Given the description of an element on the screen output the (x, y) to click on. 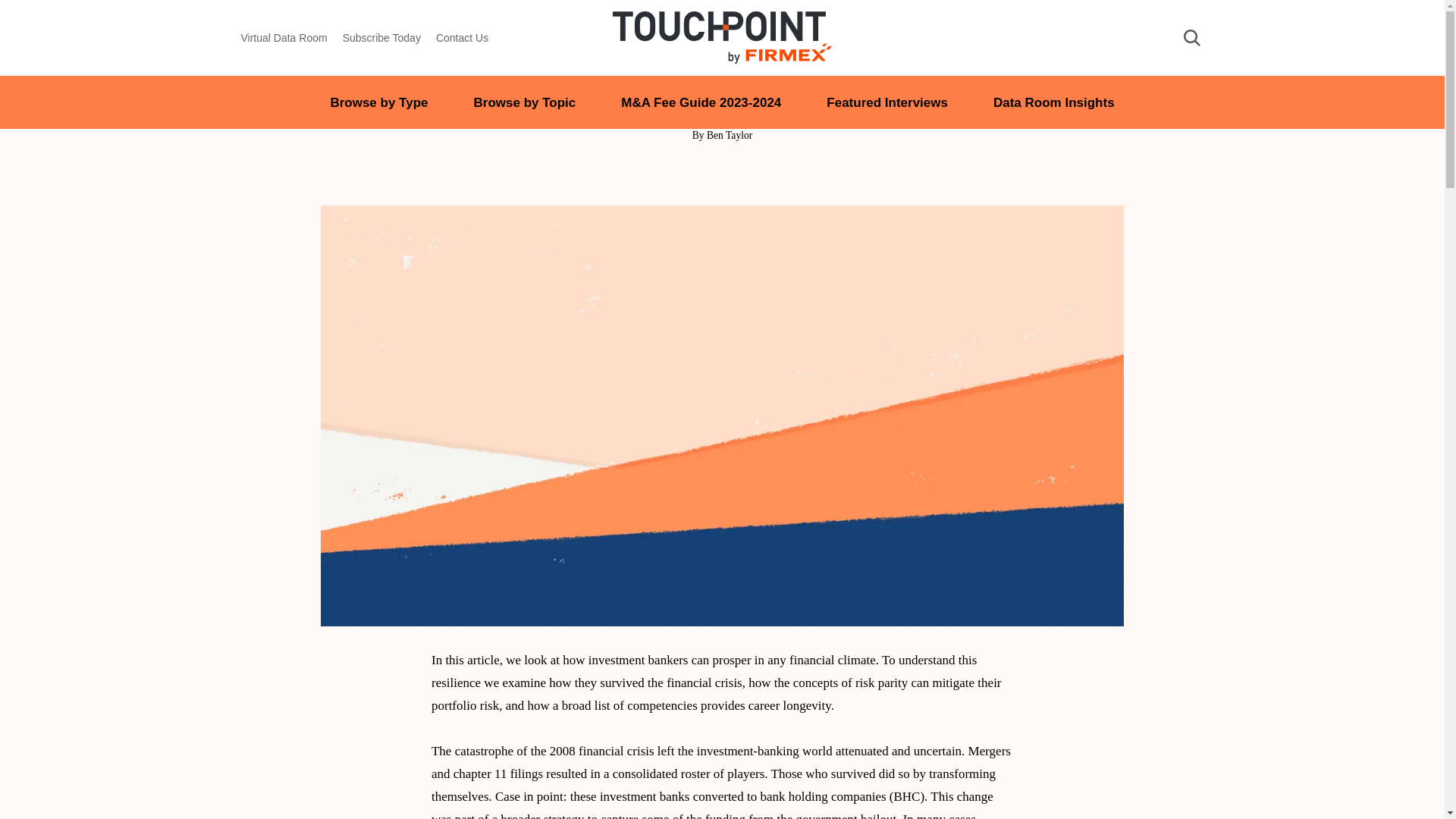
Click to share on Twitter (721, 172)
Contact Us (461, 37)
Browse by Type (379, 102)
Browse by Topic (525, 102)
Virtual Data Room (284, 37)
Data Room Insights (1053, 102)
Featured Interviews (887, 102)
Click to share on Facebook (753, 172)
Click to share on LinkedIn (689, 172)
BLOG (721, 59)
